Given the description of an element on the screen output the (x, y) to click on. 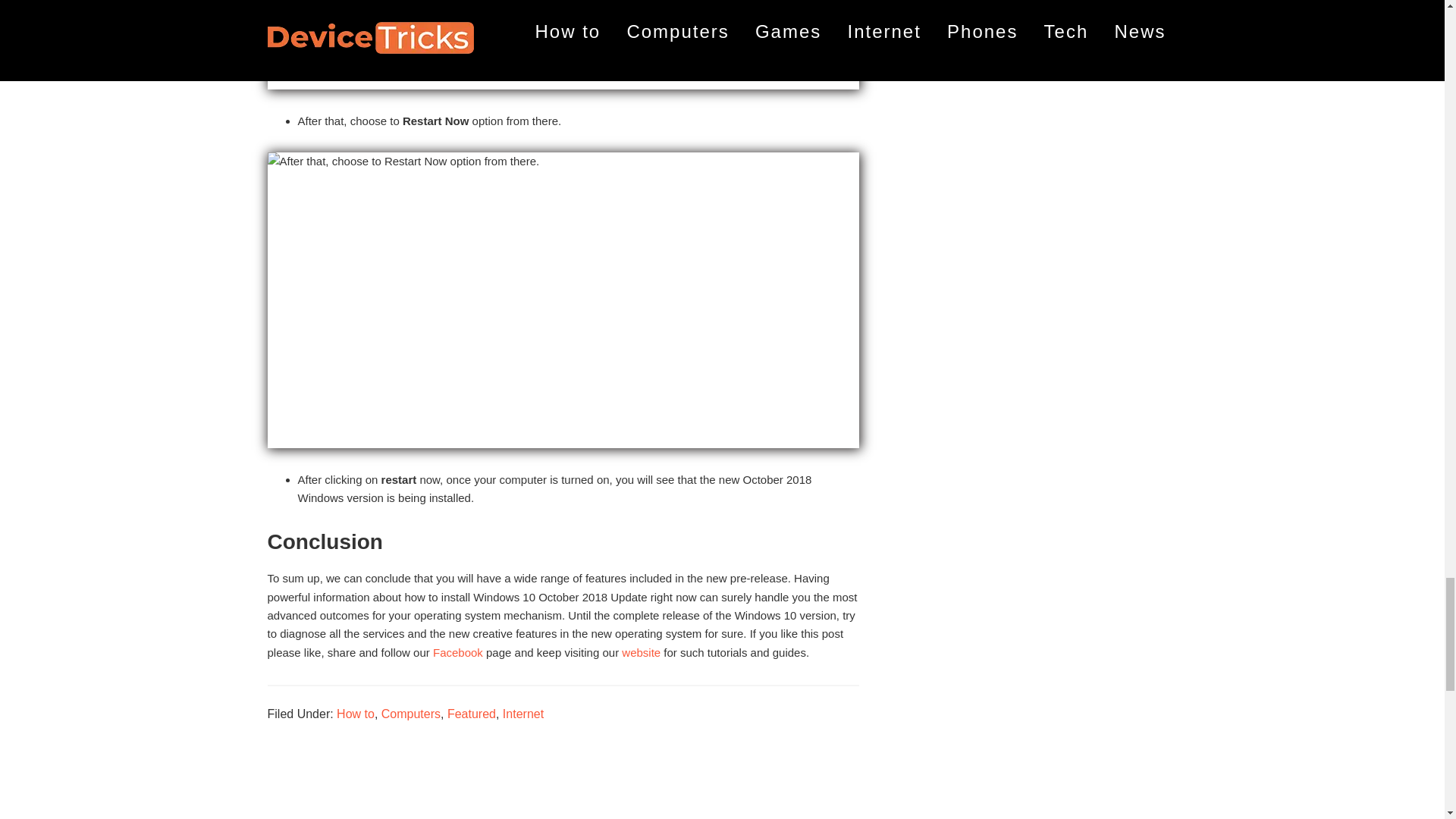
Internet (522, 713)
How to Install Windows 10 October 2018 Update right now ? (562, 44)
Featured (471, 713)
Computers (411, 713)
How to (355, 713)
website (641, 652)
Facebook (457, 652)
